Given the description of an element on the screen output the (x, y) to click on. 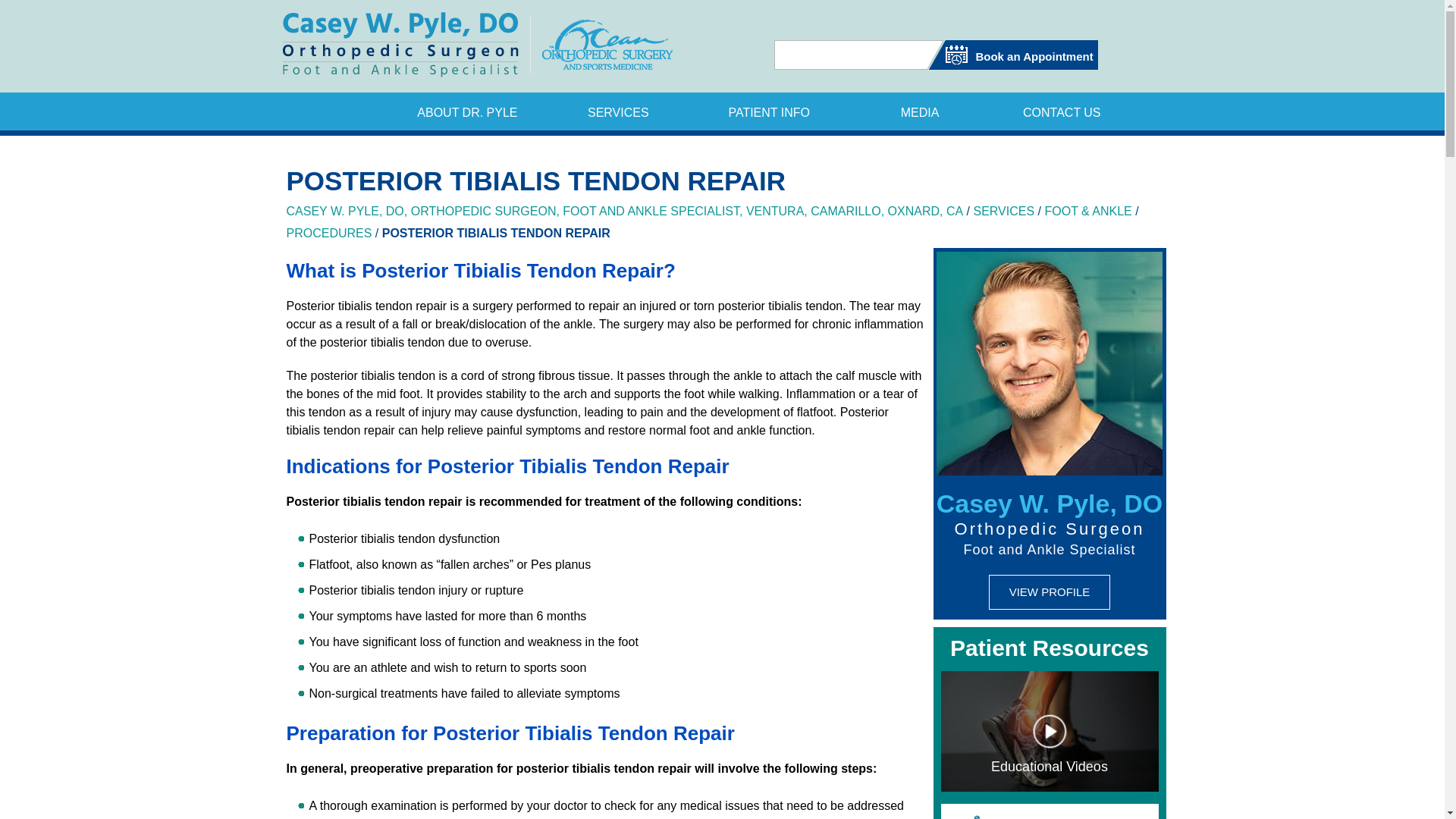
MEDIA (919, 110)
ABOUT DR. PYLE (467, 110)
CONTACT US (1061, 110)
HOME (349, 111)
Book an Appointment (1013, 52)
PATIENT INFO (768, 110)
SERVICES (617, 110)
